Given the description of an element on the screen output the (x, y) to click on. 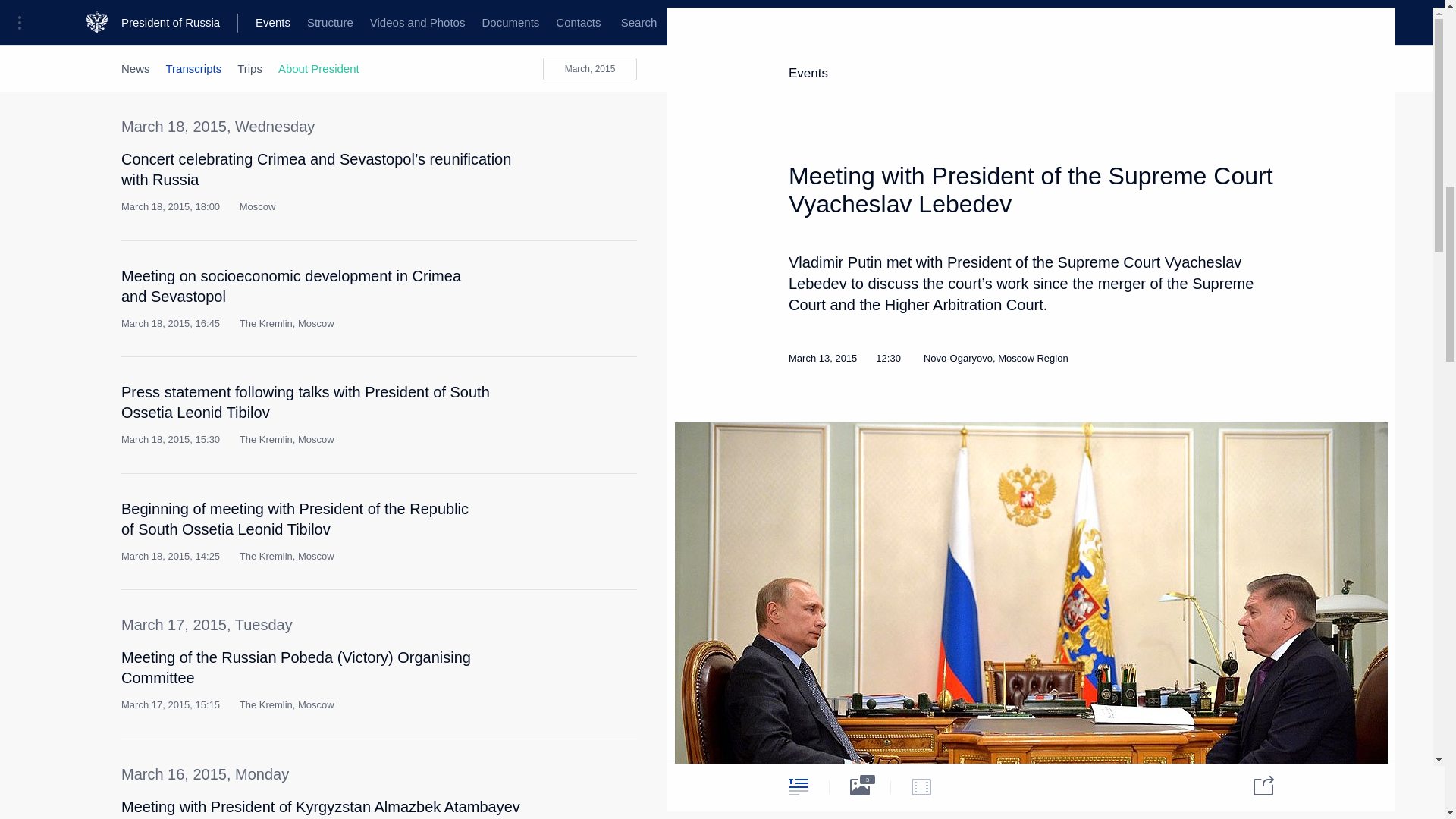
Text of the article (549, 397)
Text of the article (549, 514)
Text of the article (549, 663)
Text of the article (549, 16)
Text of the article (549, 281)
Text of the article (549, 165)
Text of the article (549, 811)
